Given the description of an element on the screen output the (x, y) to click on. 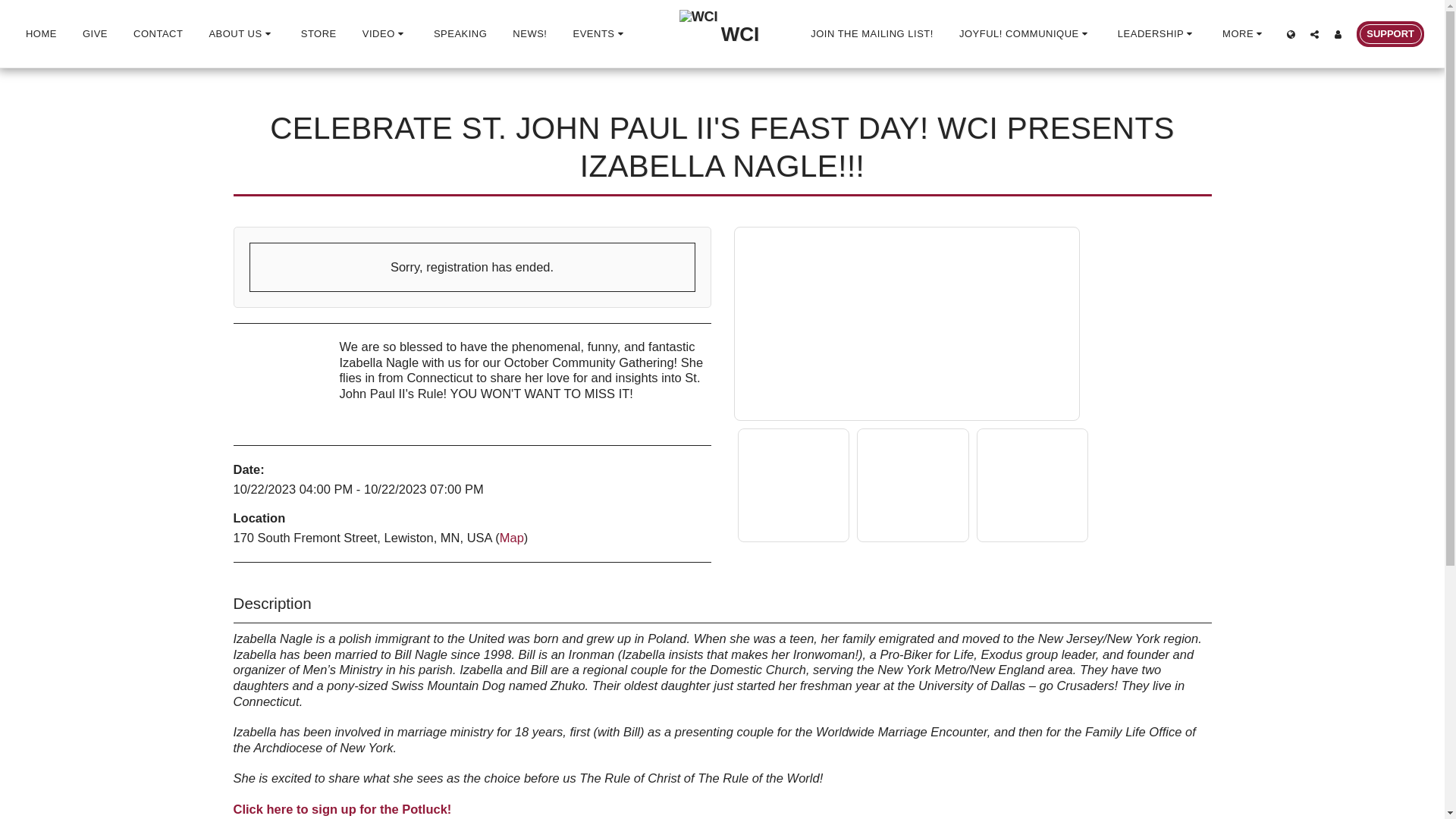
GIVE (94, 33)
HOME (40, 33)
CONTACT (157, 33)
LEADERSHIP   (1156, 33)
JOIN THE MAILING LIST! (870, 33)
STORE (318, 33)
WCI (719, 33)
SUPPORT (1389, 33)
MORE   (1243, 33)
VIDEO   (385, 33)
SUPPORT (1390, 33)
SPEAKING (460, 33)
ABOUT US   (241, 33)
